Given the description of an element on the screen output the (x, y) to click on. 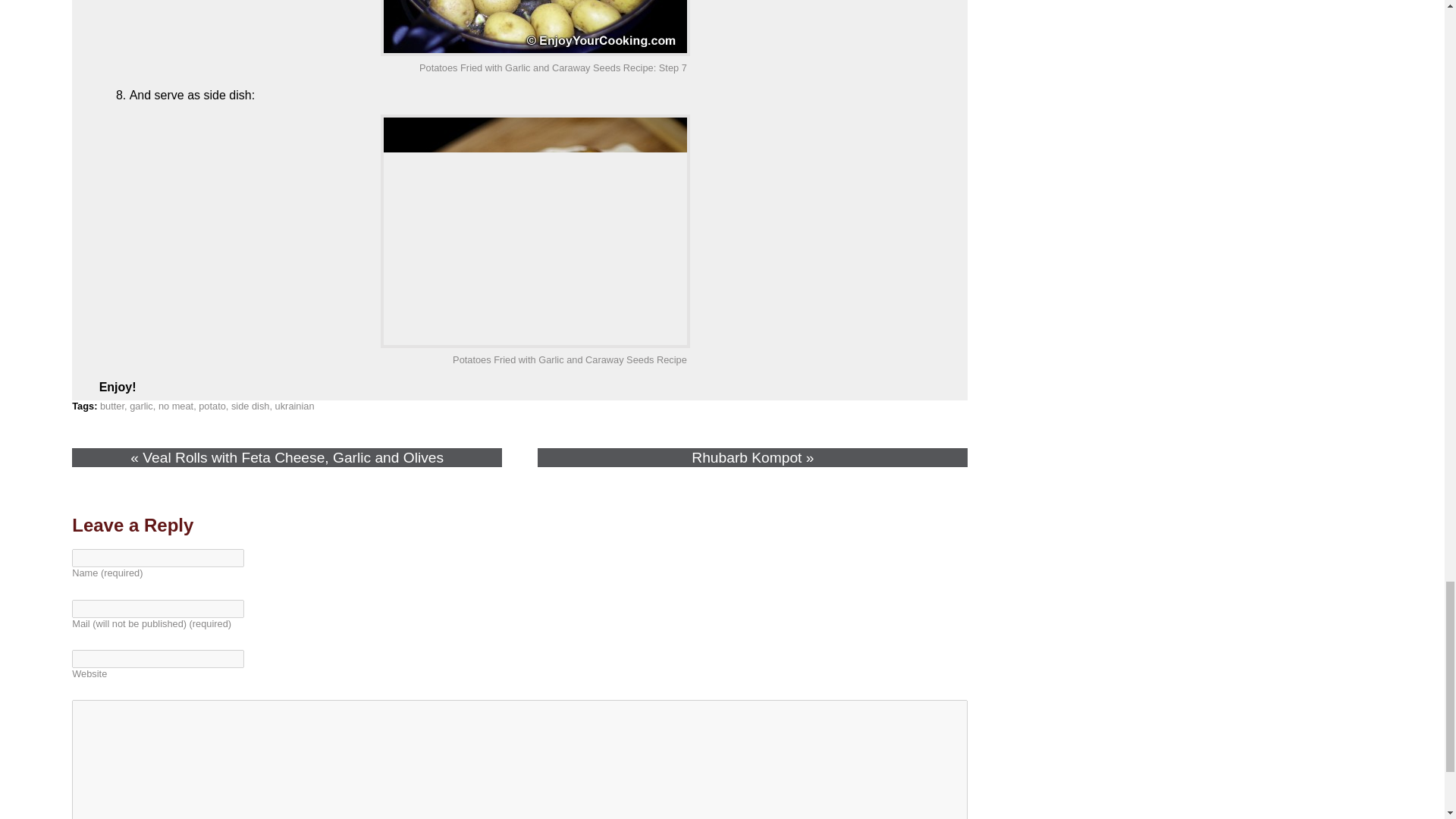
potato (211, 405)
ukrainian (294, 405)
garlic (140, 405)
no meat (175, 405)
butter (111, 405)
side dish (250, 405)
